Given the description of an element on the screen output the (x, y) to click on. 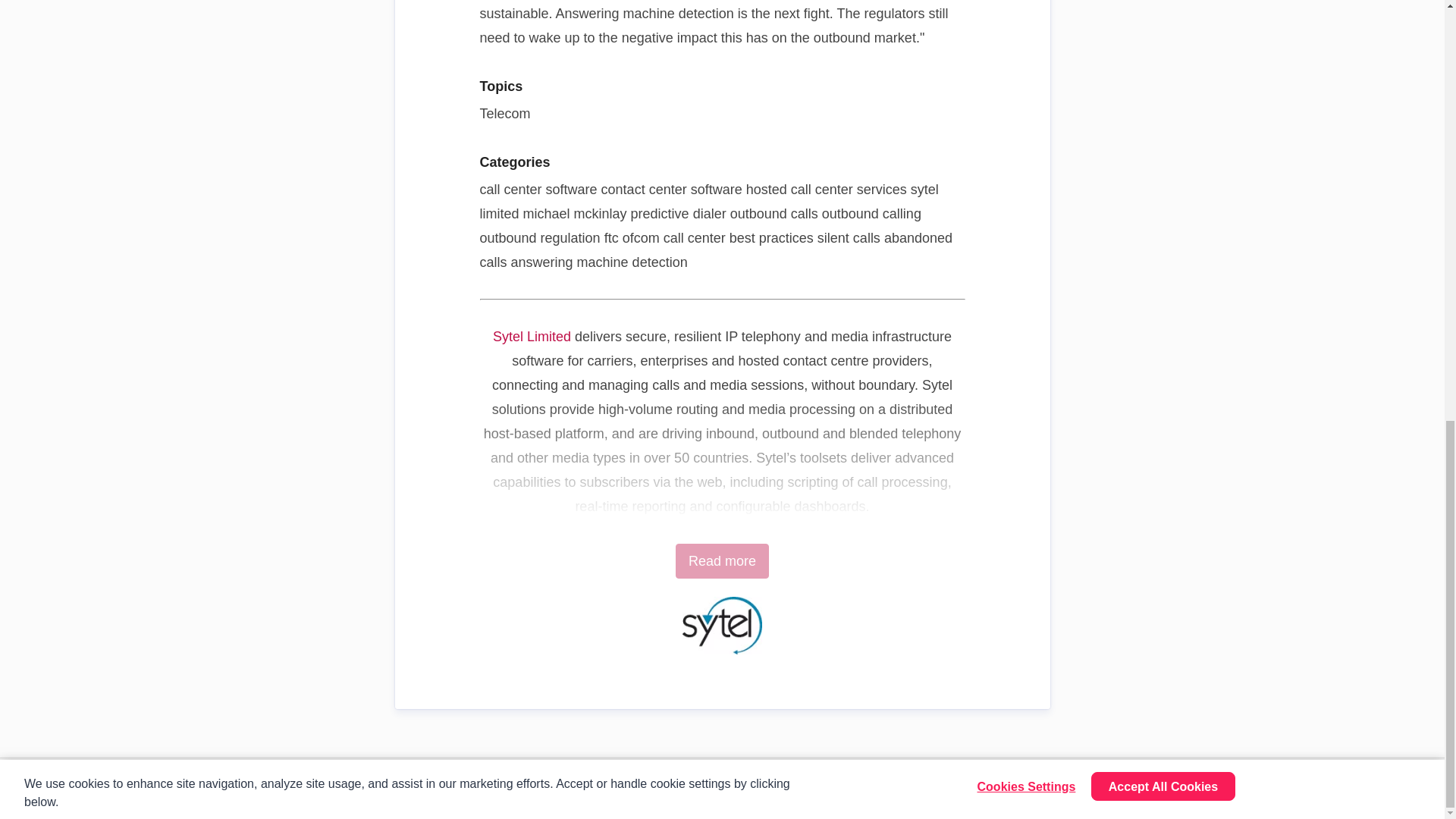
Sytel Limited (531, 336)
Try Mynewsdesk (1135, 788)
Find more stories (1373, 788)
For journalists (1254, 788)
Sytel Limited (531, 336)
Mynewsdesk (77, 788)
Read more (721, 560)
